Given the description of an element on the screen output the (x, y) to click on. 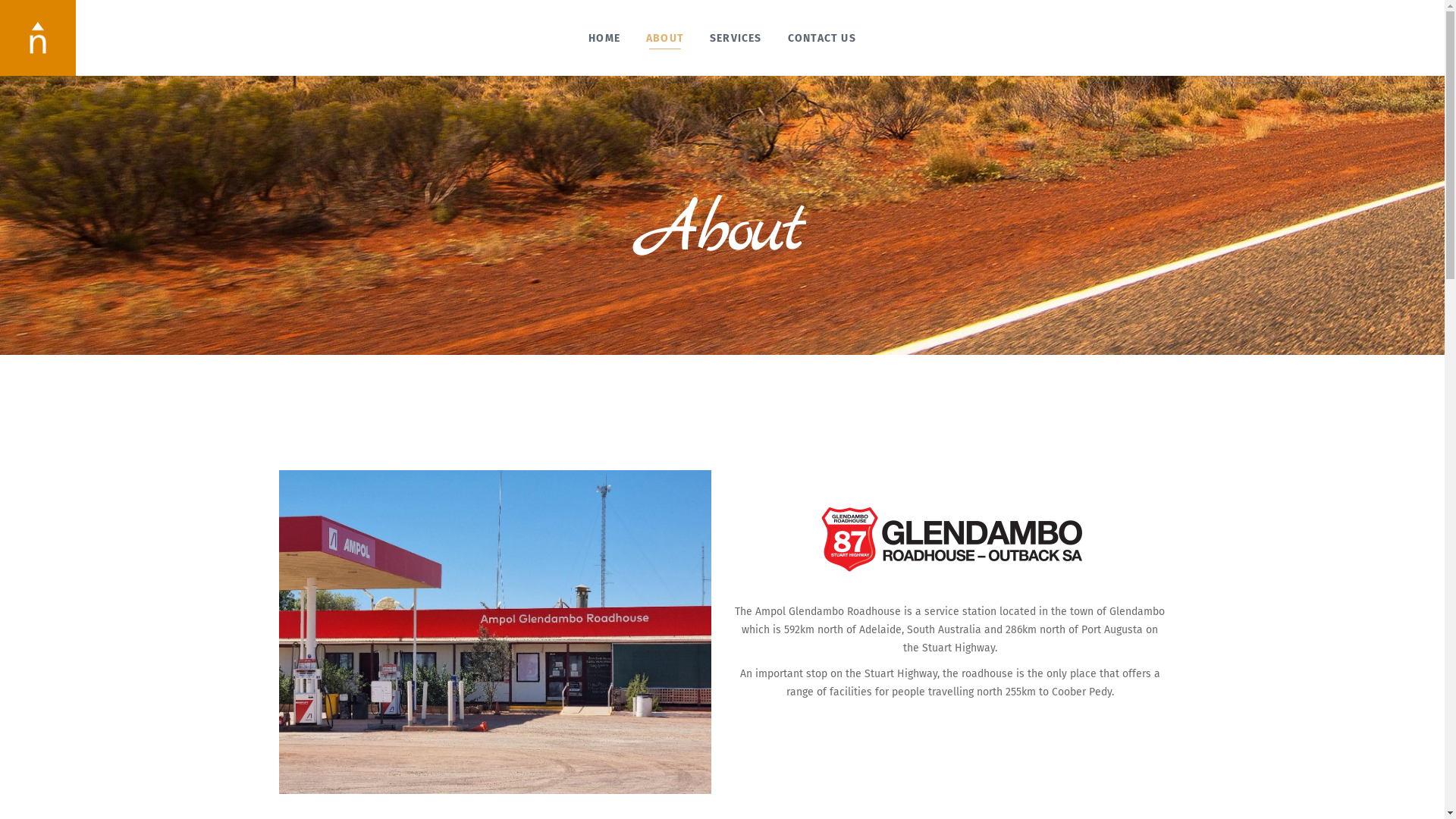
glendambo-roadhouse Element type: hover (949, 539)
Glendambo Roadhouse Element type: hover (495, 631)
HOME Element type: text (604, 37)
ABOUT Element type: text (664, 37)
CONTACT US Element type: text (821, 37)
SERVICES Element type: text (735, 37)
Back to Northern Interests Element type: hover (37, 34)
